Given the description of an element on the screen output the (x, y) to click on. 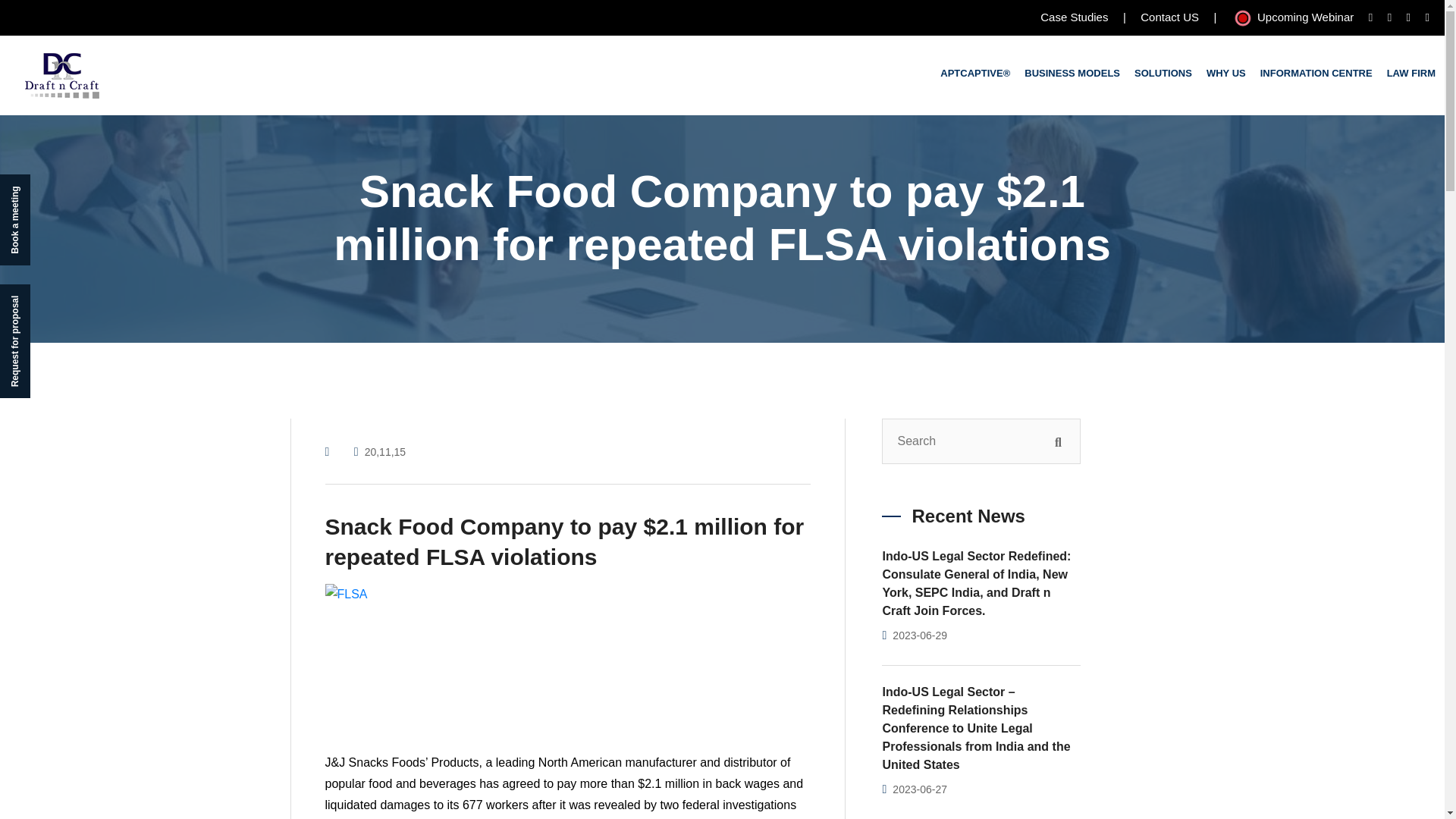
SOLUTIONS (1163, 73)
Request for proposal (56, 299)
Book a meeting (45, 189)
BUSINESS MODELS (1072, 73)
Upcoming Webinar (1292, 16)
Case Studies (1074, 16)
Contact US (1169, 16)
